Given the description of an element on the screen output the (x, y) to click on. 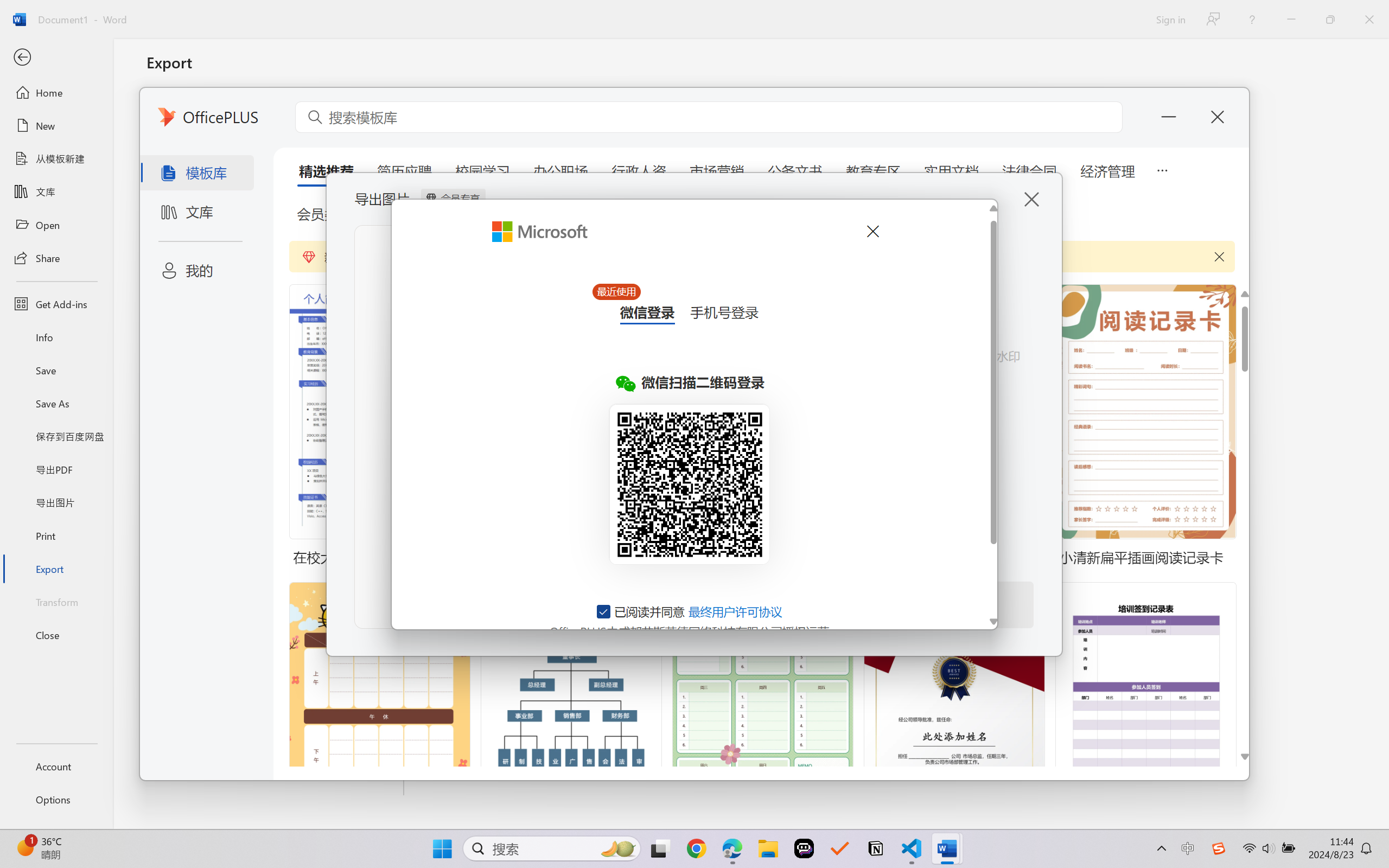
Create PDF/XPS Document (275, 110)
Sign in (1170, 18)
Print (56, 535)
Cancel (872, 230)
AutomationID: checkbox-14 (604, 611)
Get Add-ins (56, 303)
